Given the description of an element on the screen output the (x, y) to click on. 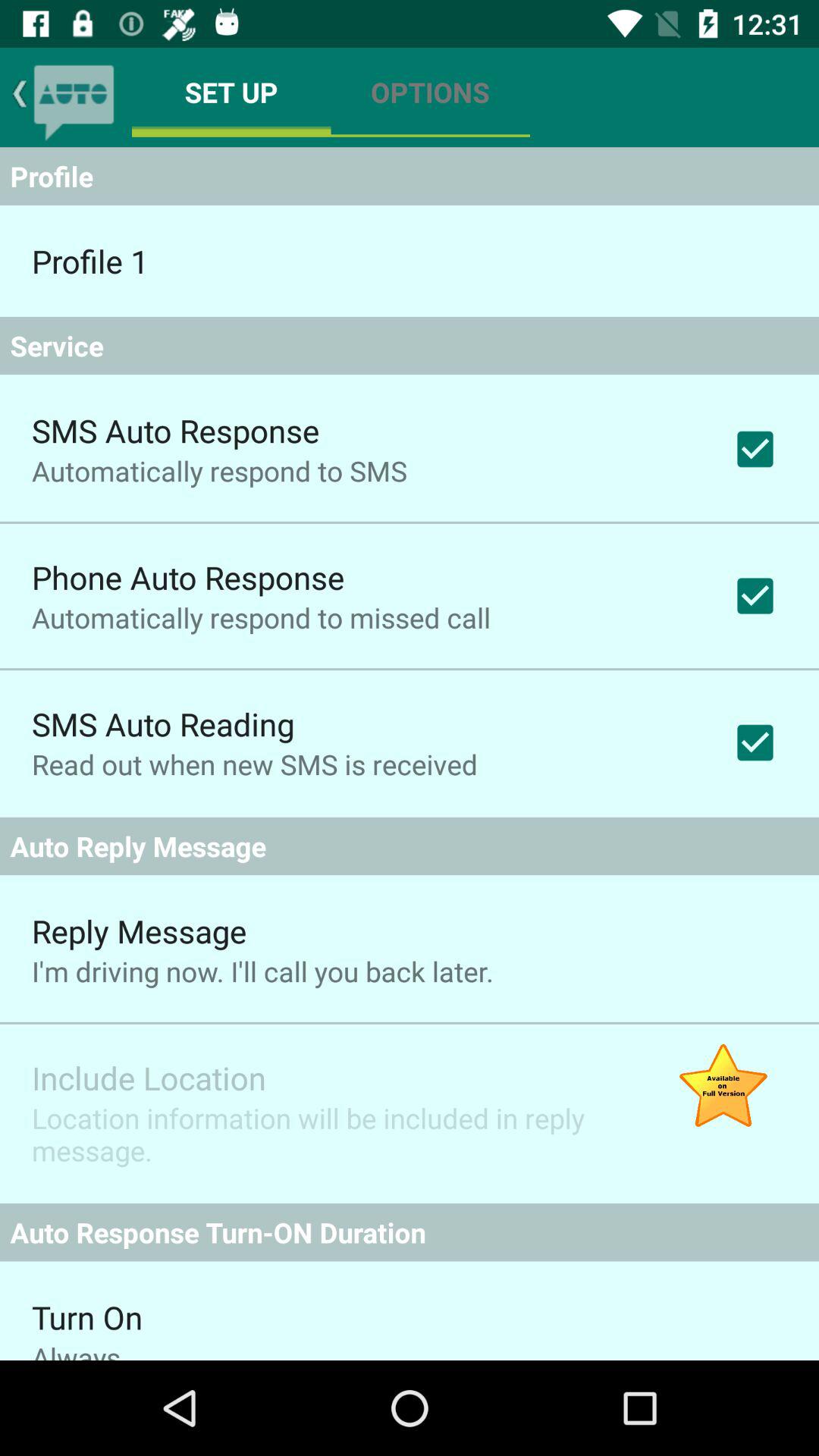
turn on item above service app (89, 260)
